Given the description of an element on the screen output the (x, y) to click on. 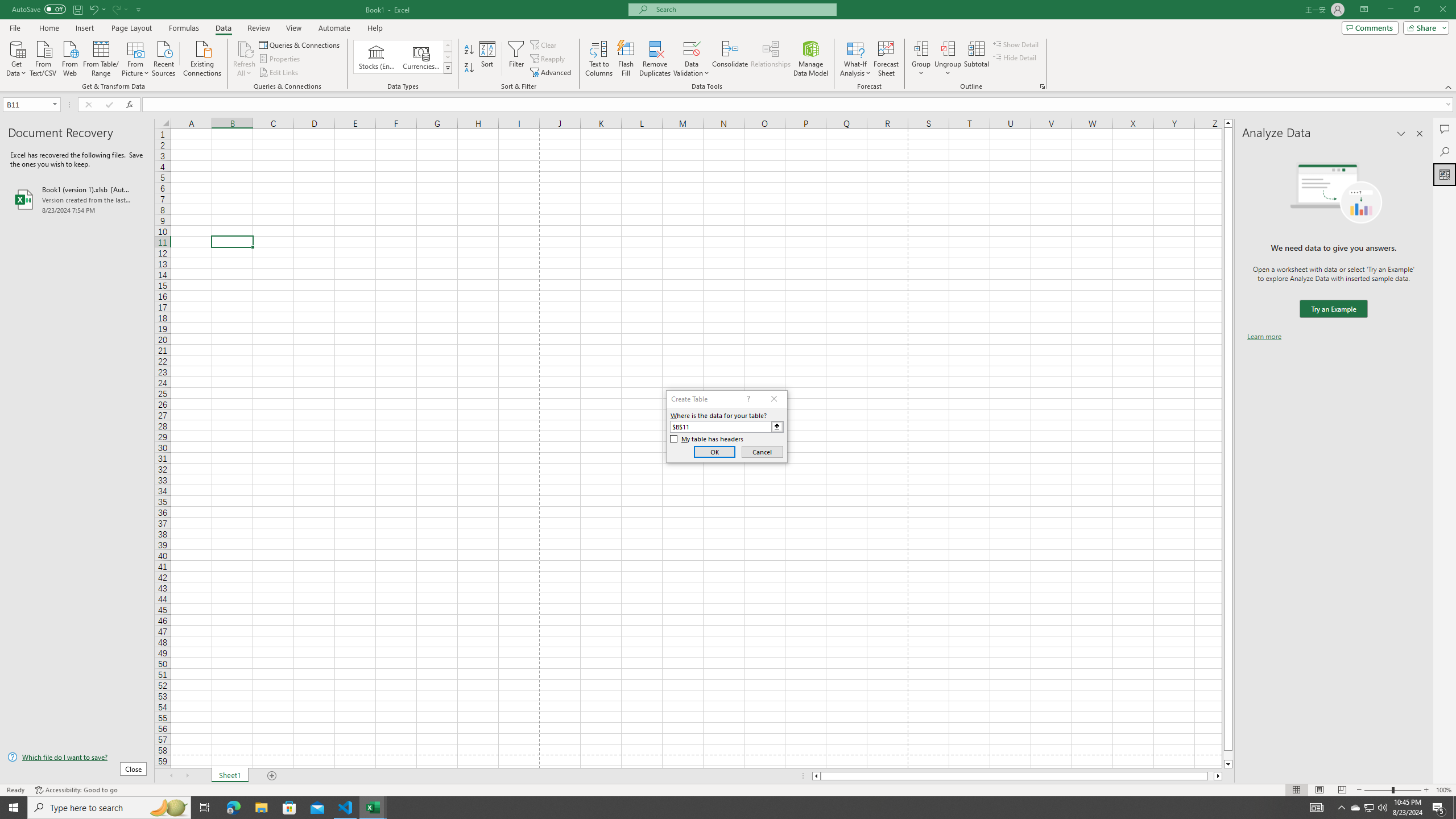
Currencies (English) (420, 56)
Sort Z to A (469, 67)
Analyze Data (1444, 173)
Class: MsoCommandBar (728, 45)
Text to Columns... (598, 58)
